Given the description of an element on the screen output the (x, y) to click on. 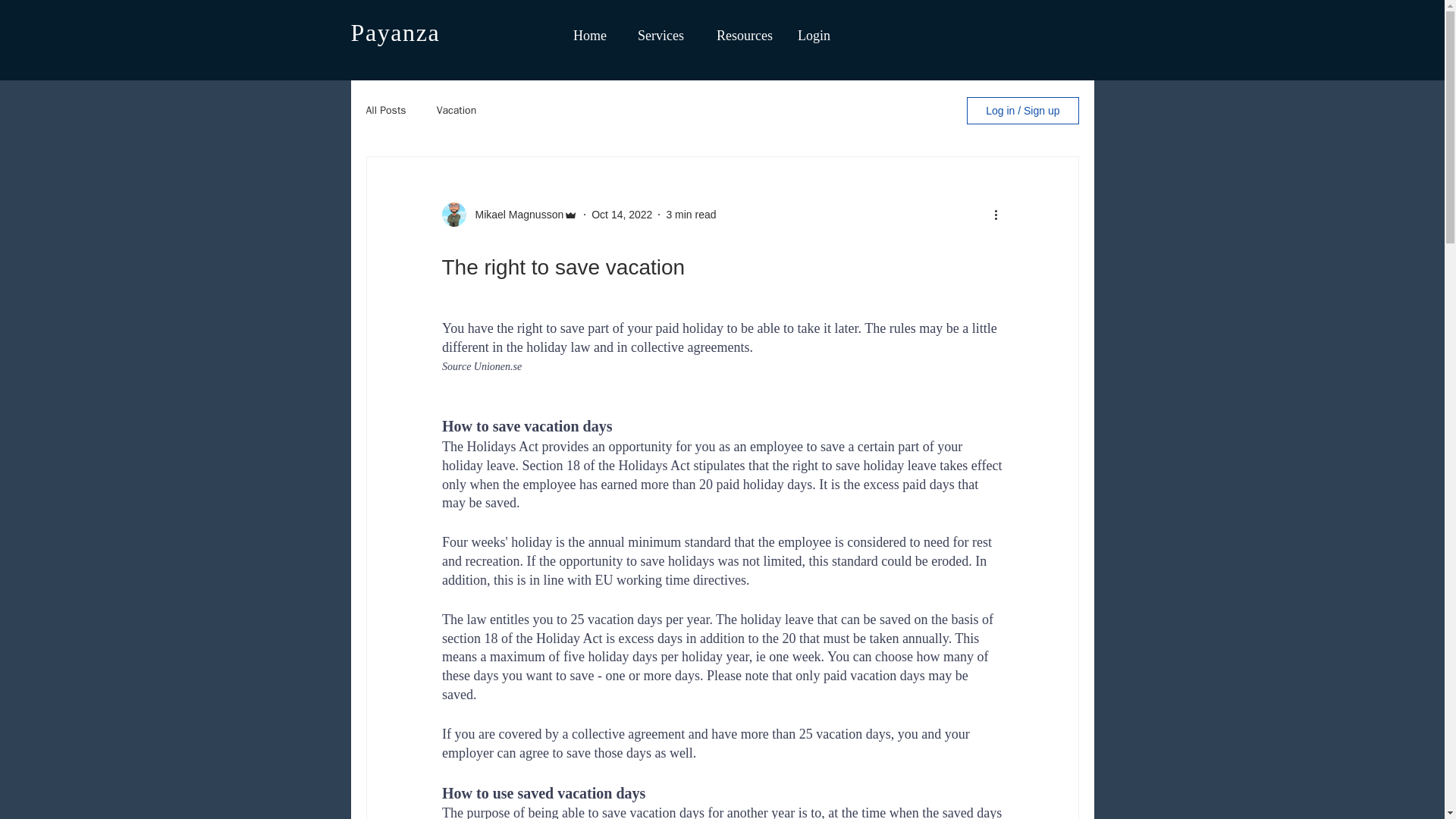
Oct 14, 2022 (621, 214)
Mikael Magnusson (514, 213)
Vacation (456, 110)
Home (587, 35)
Login (812, 35)
Payanza (394, 31)
All Posts (385, 110)
3 min read (690, 214)
